Given the description of an element on the screen output the (x, y) to click on. 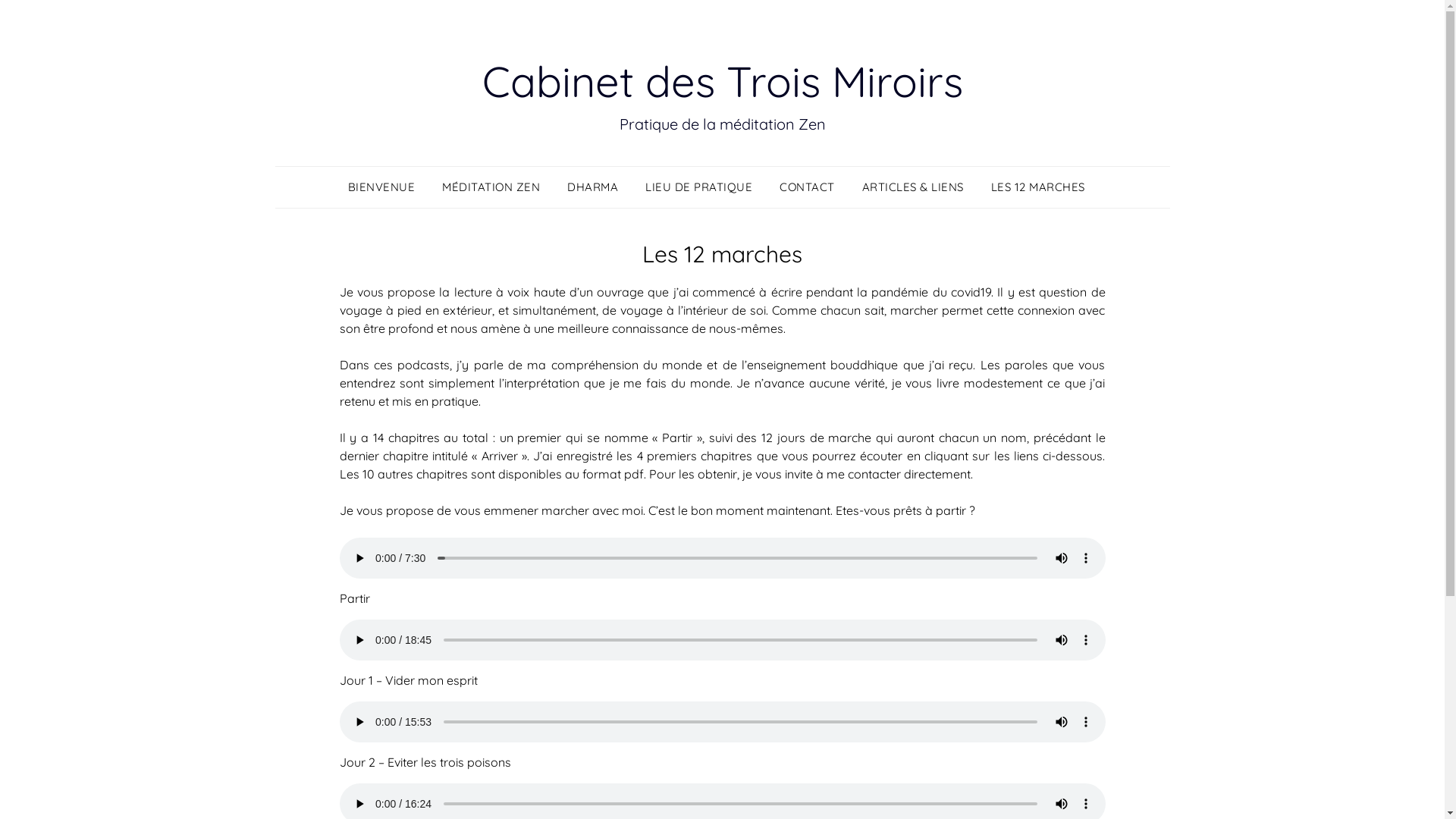
LIEU DE PRATIQUE Element type: text (698, 186)
BIENVENUE Element type: text (386, 186)
DHARMA Element type: text (592, 186)
Cabinet des Trois Miroirs Element type: text (722, 80)
CONTACT Element type: text (807, 186)
ARTICLES & LIENS Element type: text (912, 186)
LES 12 MARCHES Element type: text (1037, 186)
